Given the description of an element on the screen output the (x, y) to click on. 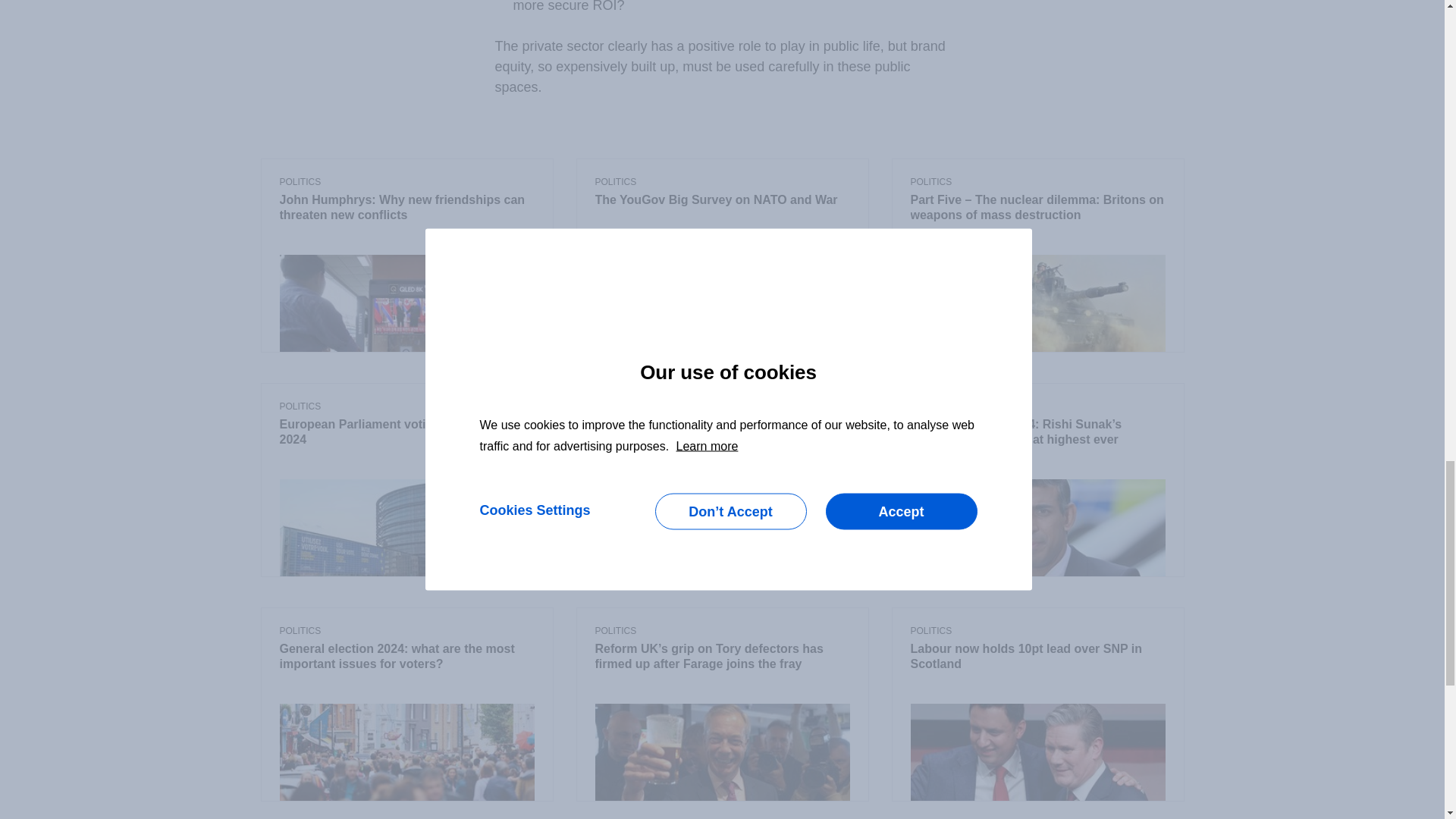
European Parliament voting intention, May 2024 (406, 432)
Using MRP for our voting intention polling (721, 425)
Labour now holds 10pt lead over SNP in Scotland (1037, 657)
The YouGov Big Survey on NATO and War (721, 200)
